Given the description of an element on the screen output the (x, y) to click on. 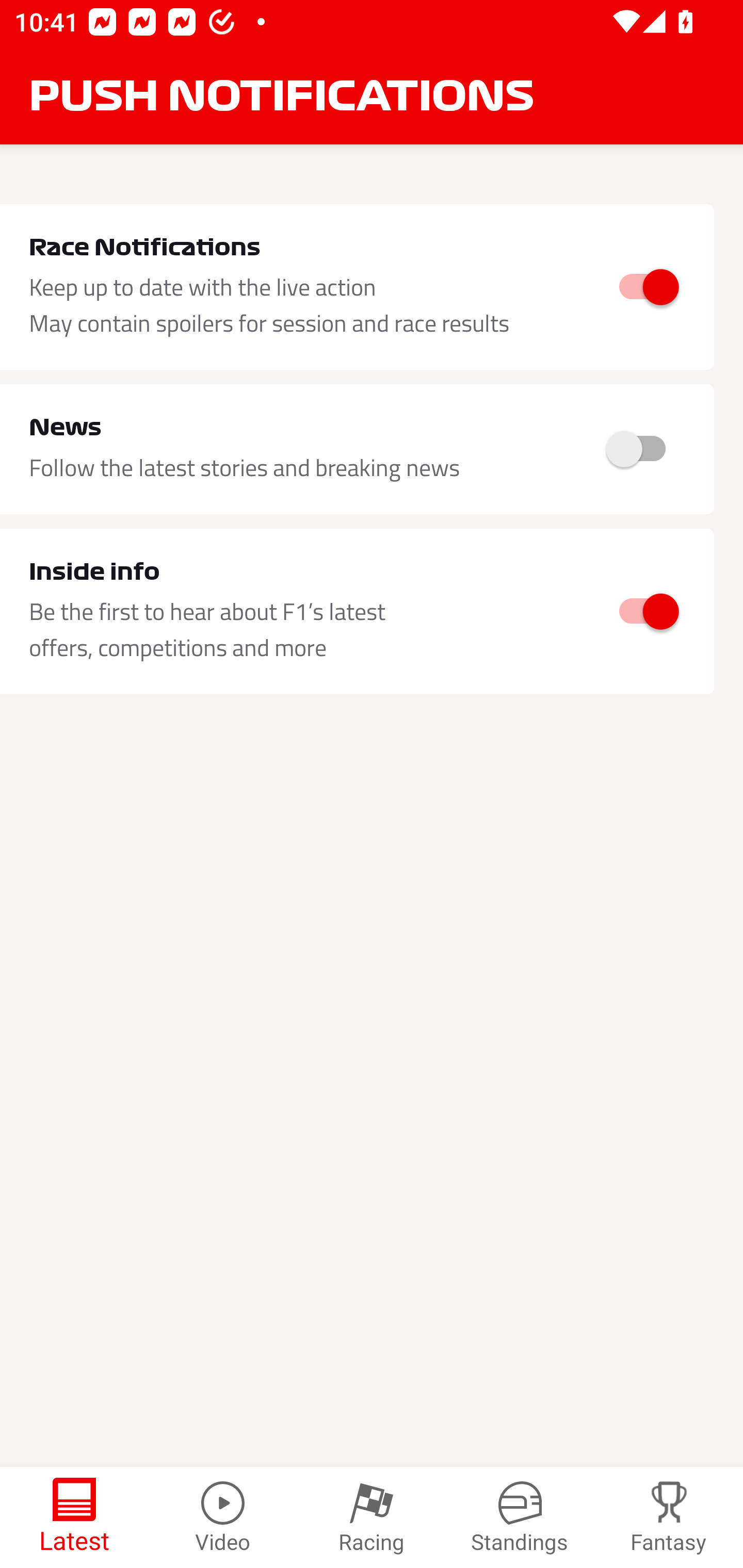
Video (222, 1517)
Racing (371, 1517)
Standings (519, 1517)
Fantasy (668, 1517)
